Given the description of an element on the screen output the (x, y) to click on. 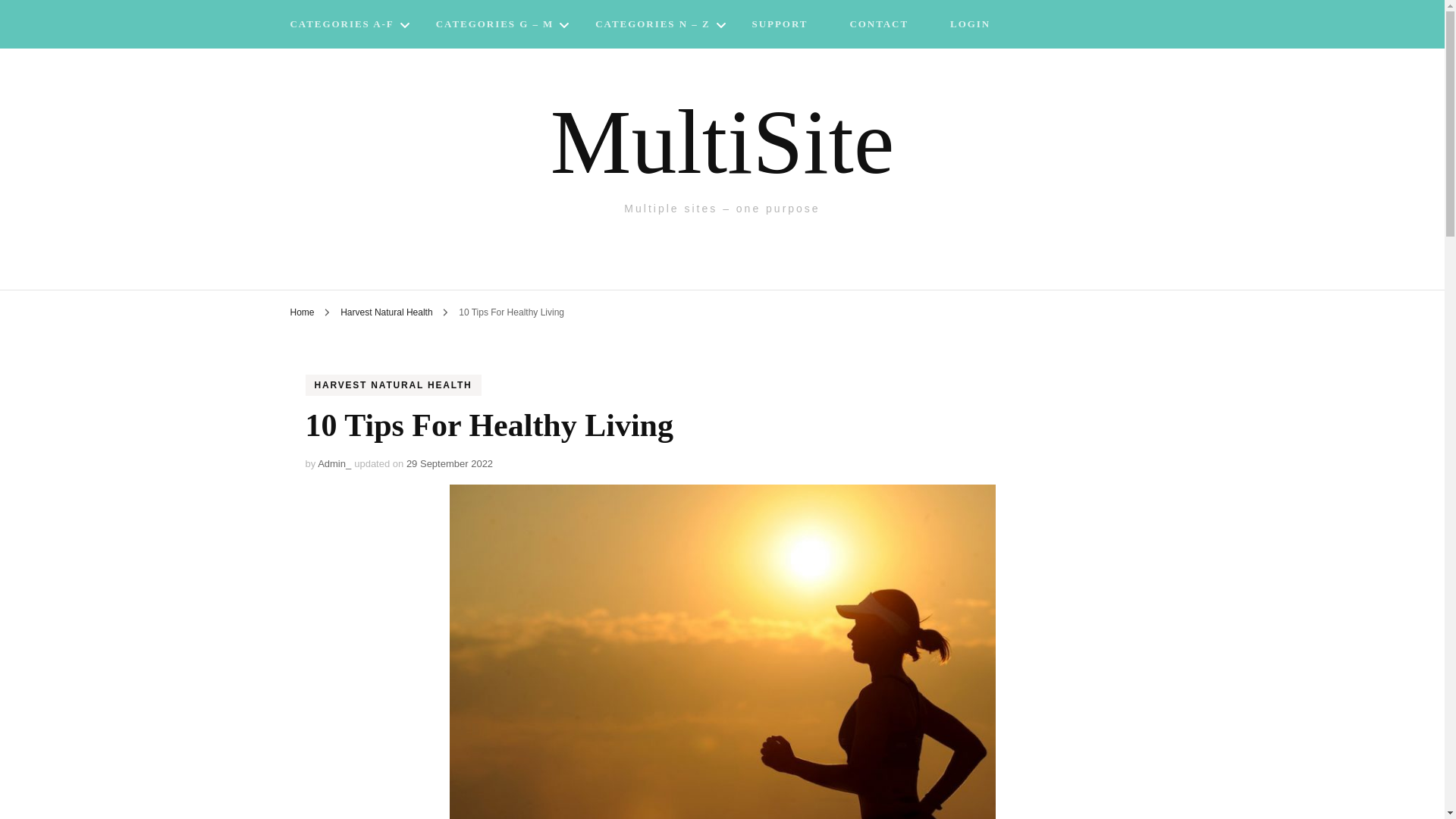
CATEGORIES A-F (341, 25)
